Given the description of an element on the screen output the (x, y) to click on. 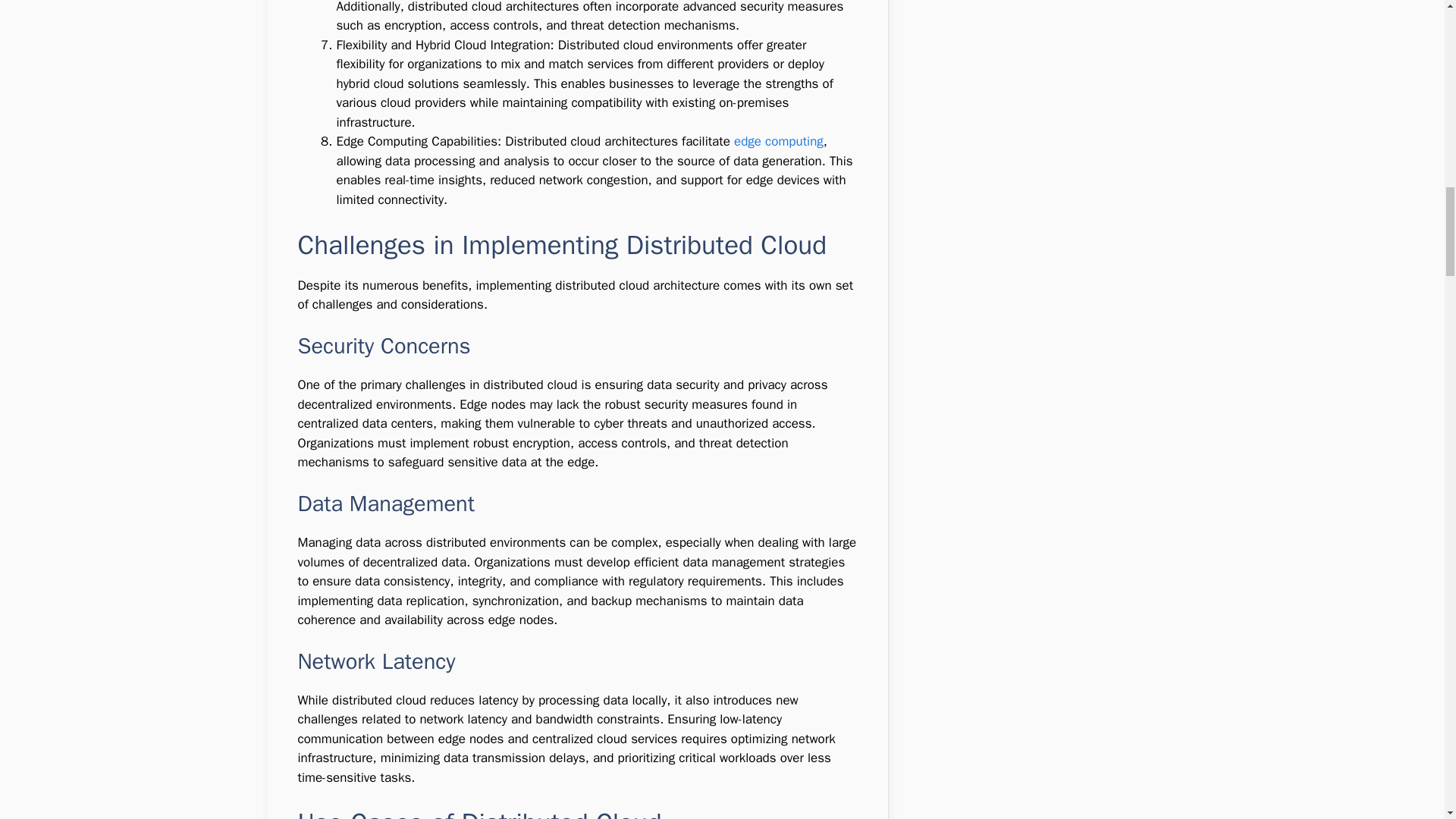
edge computing (778, 141)
